Given the description of an element on the screen output the (x, y) to click on. 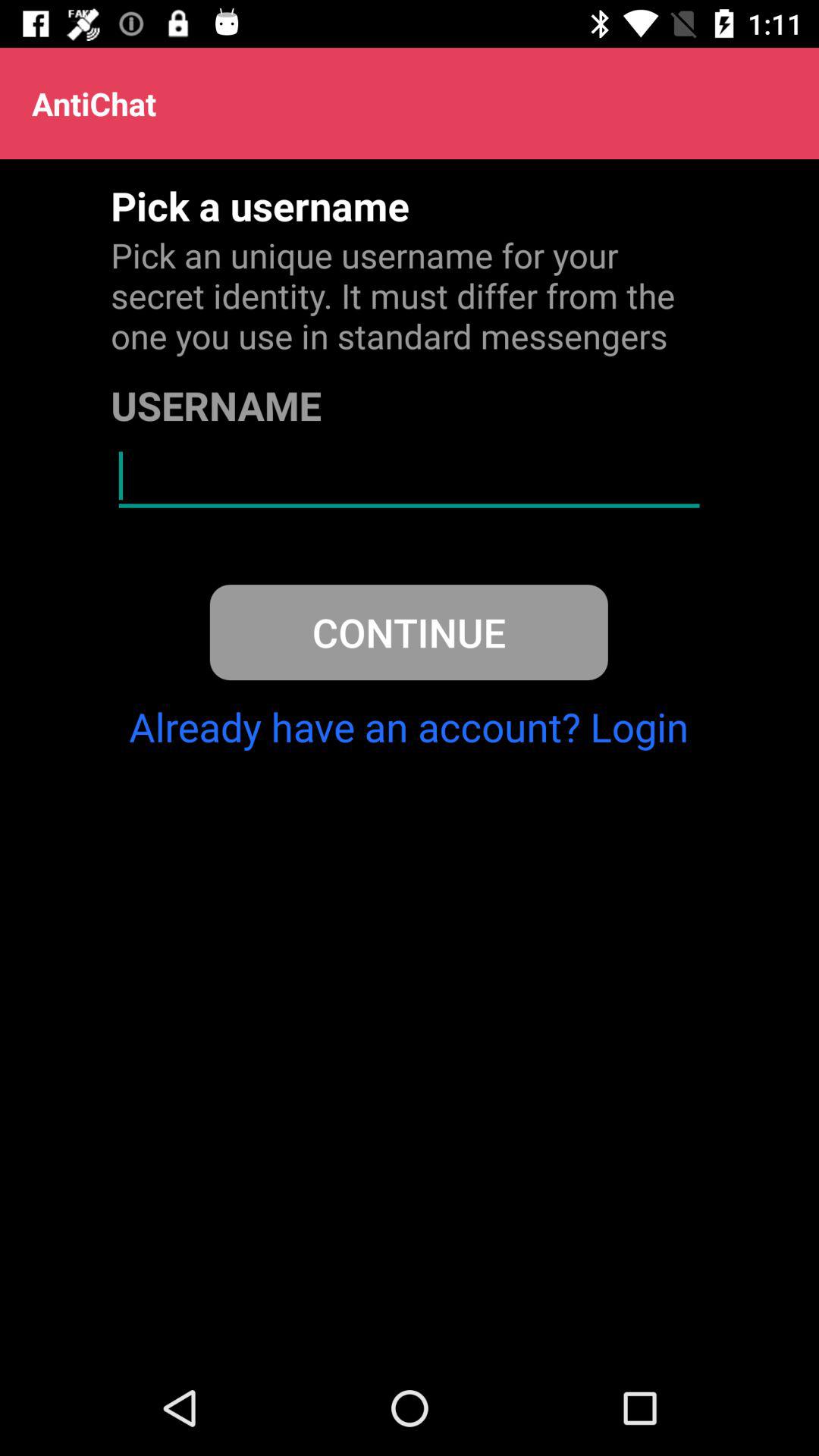
turn off already have an icon (408, 726)
